Given the description of an element on the screen output the (x, y) to click on. 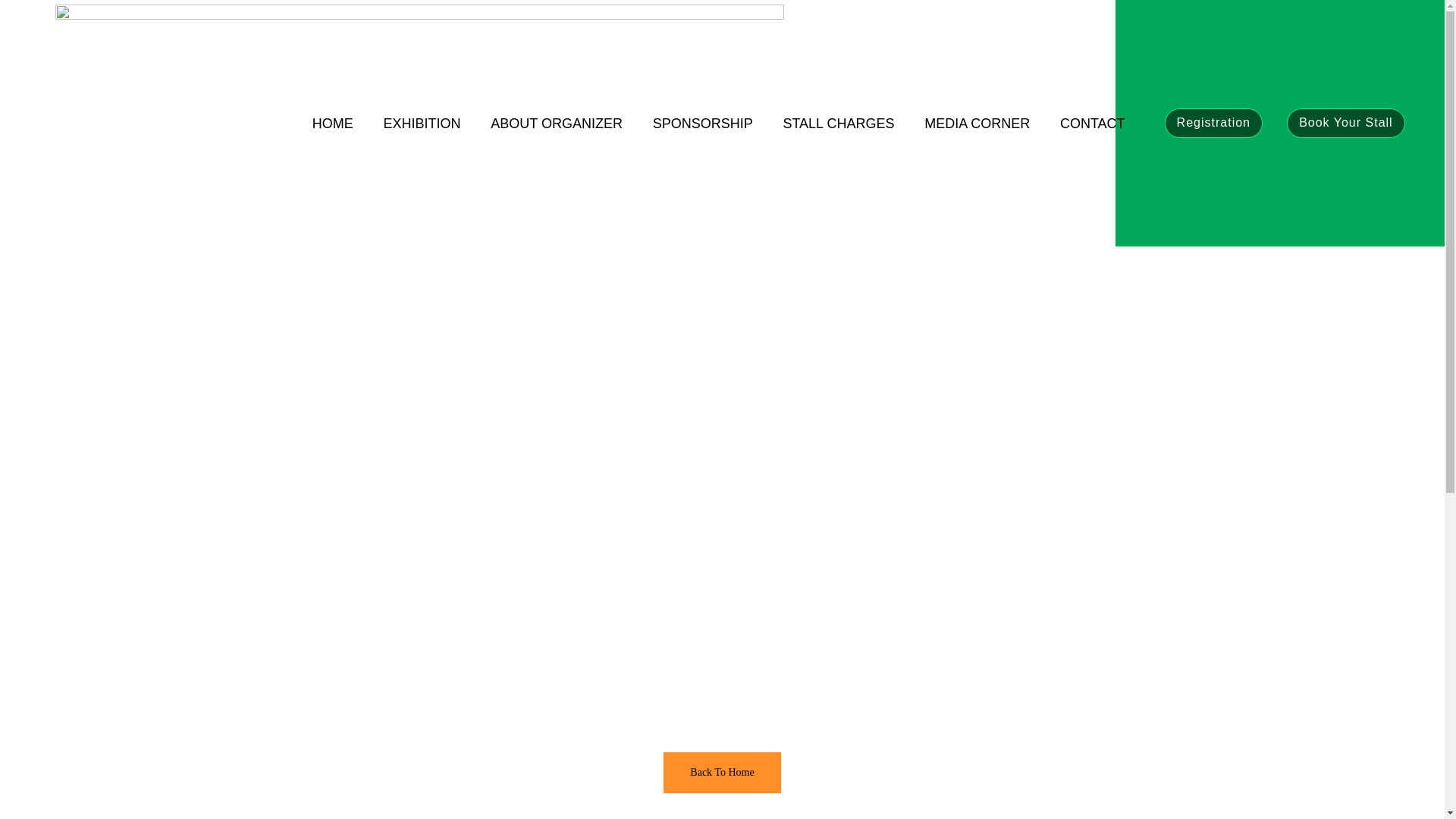
ABOUT ORGANIZER (556, 123)
EXHIBITION (422, 123)
Book Your Stall (1346, 123)
CONTACT (1092, 123)
Back To Home (721, 772)
HOME (332, 123)
MEDIA CORNER (976, 123)
SPONSORSHIP (702, 123)
Registration (1213, 123)
STALL CHARGES (839, 123)
